Given the description of an element on the screen output the (x, y) to click on. 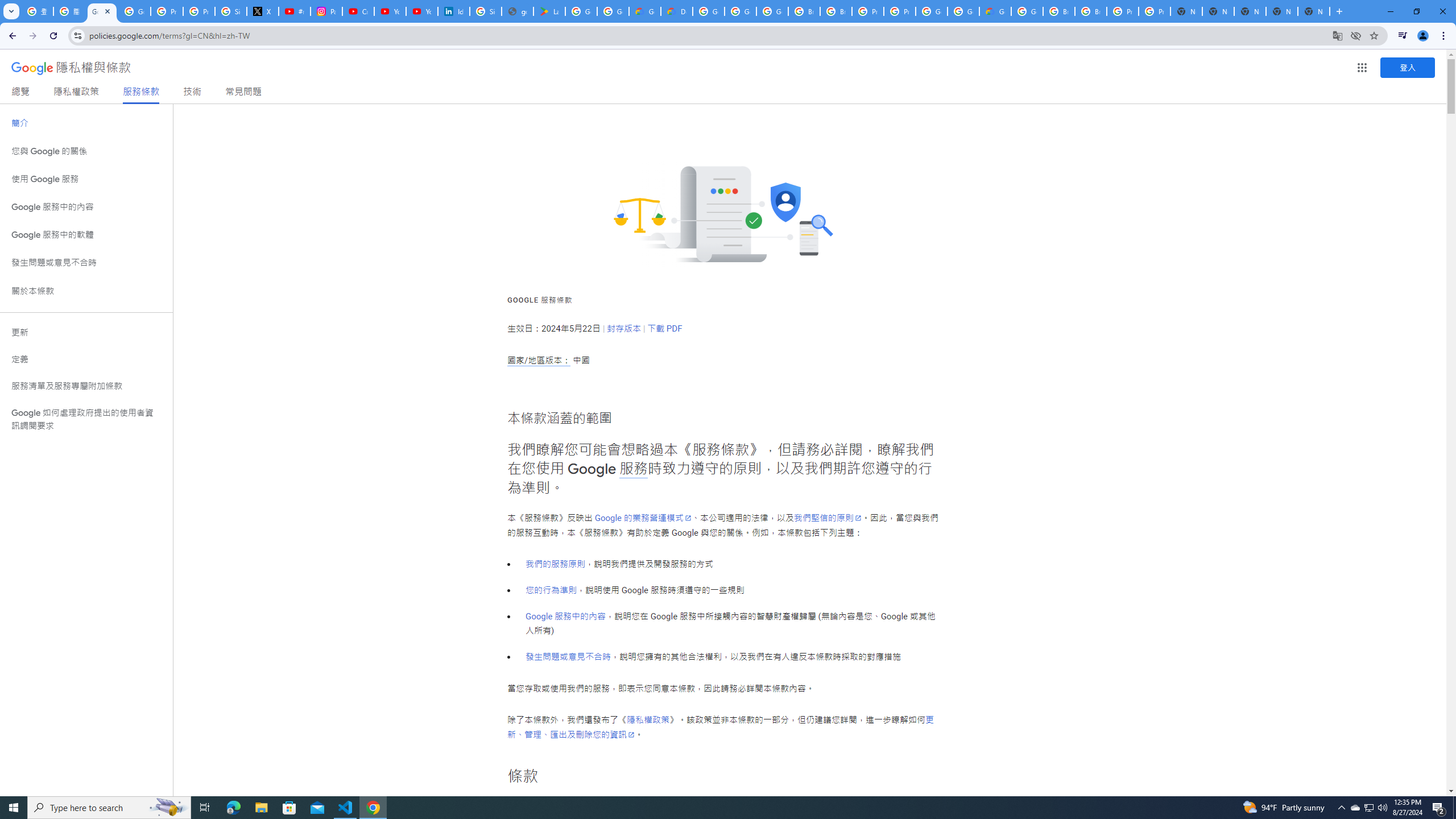
Google Cloud Platform (1027, 11)
Browse Chrome as a guest - Computer - Google Chrome Help (1059, 11)
New Tab (1313, 11)
Last Shelter: Survival - Apps on Google Play (549, 11)
